Given the description of an element on the screen output the (x, y) to click on. 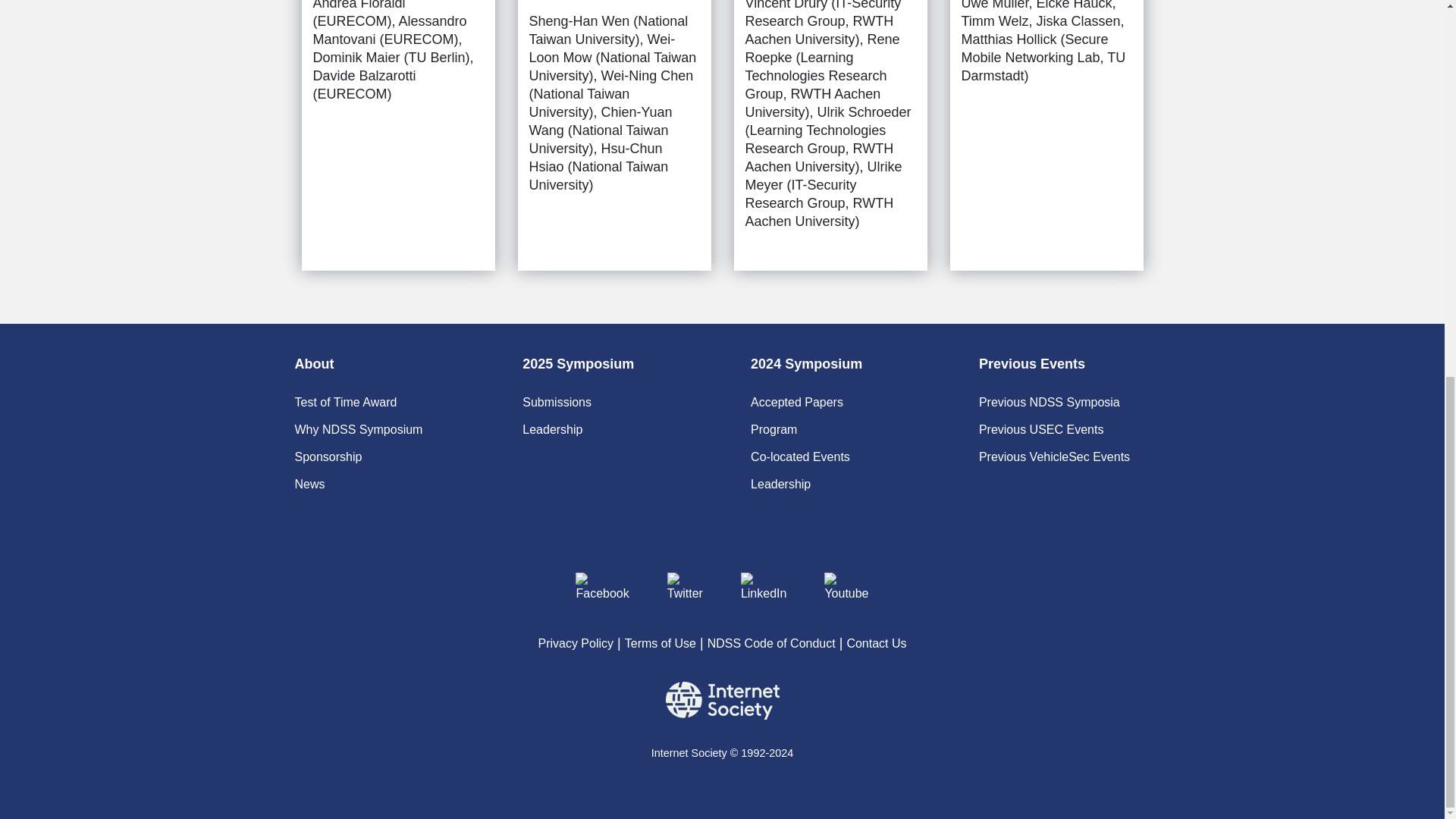
Sponsorship (327, 456)
2025 Symposium (577, 363)
News (309, 483)
Leadership (552, 429)
Test of Time Award (345, 402)
Submissions (556, 402)
Why NDSS Symposium (358, 429)
About (313, 363)
